Given the description of an element on the screen output the (x, y) to click on. 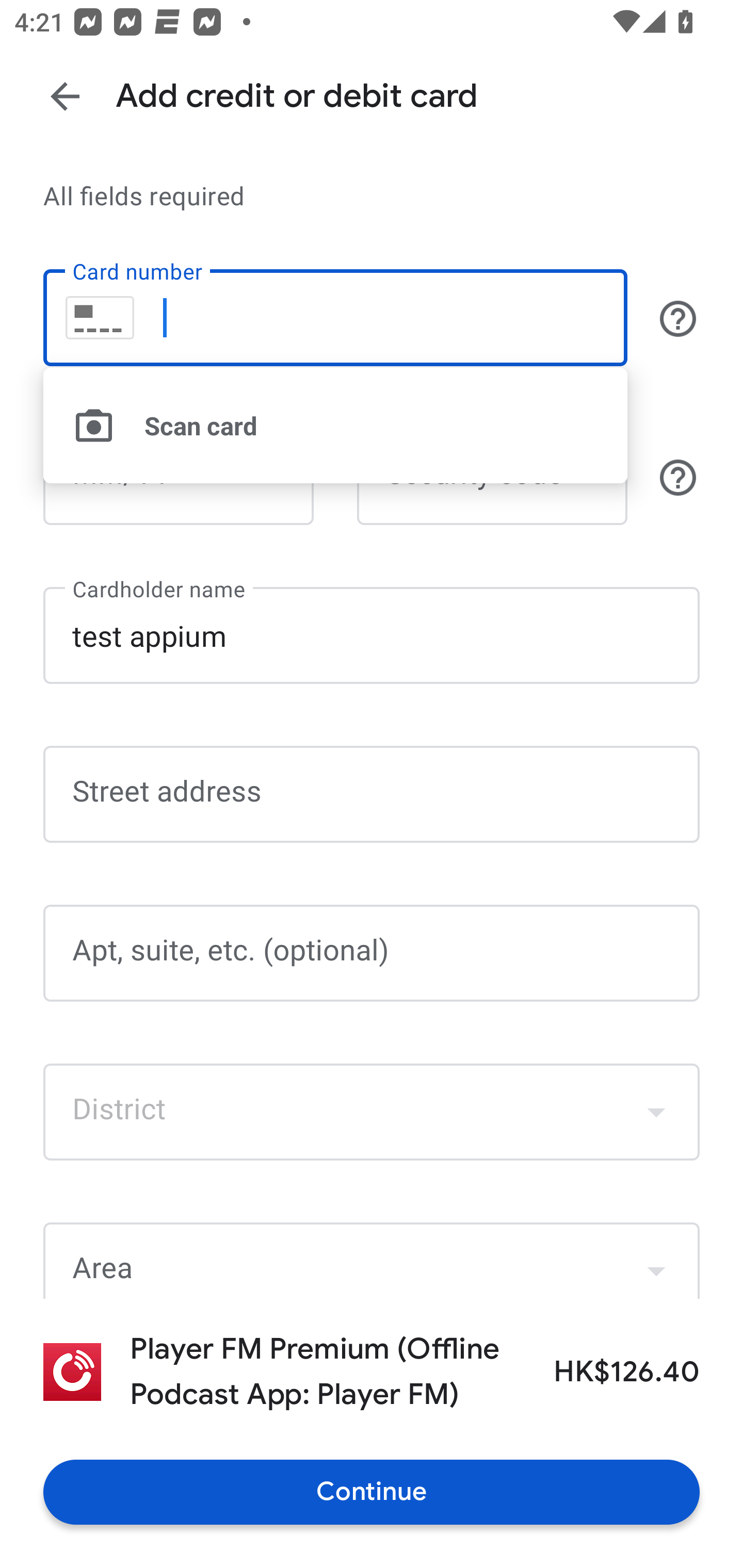
Back (64, 96)
Card number (335, 317)
Button, shows cards that are accepted for payment (677, 318)
Security code help (677, 477)
test appium (371, 634)
Street address (371, 794)
Apt, suite, etc. (optional) (371, 952)
District (371, 1111)
Show dropdown menu (655, 1112)
Area (371, 1260)
Show dropdown menu (655, 1262)
Continue (371, 1491)
